Given the description of an element on the screen output the (x, y) to click on. 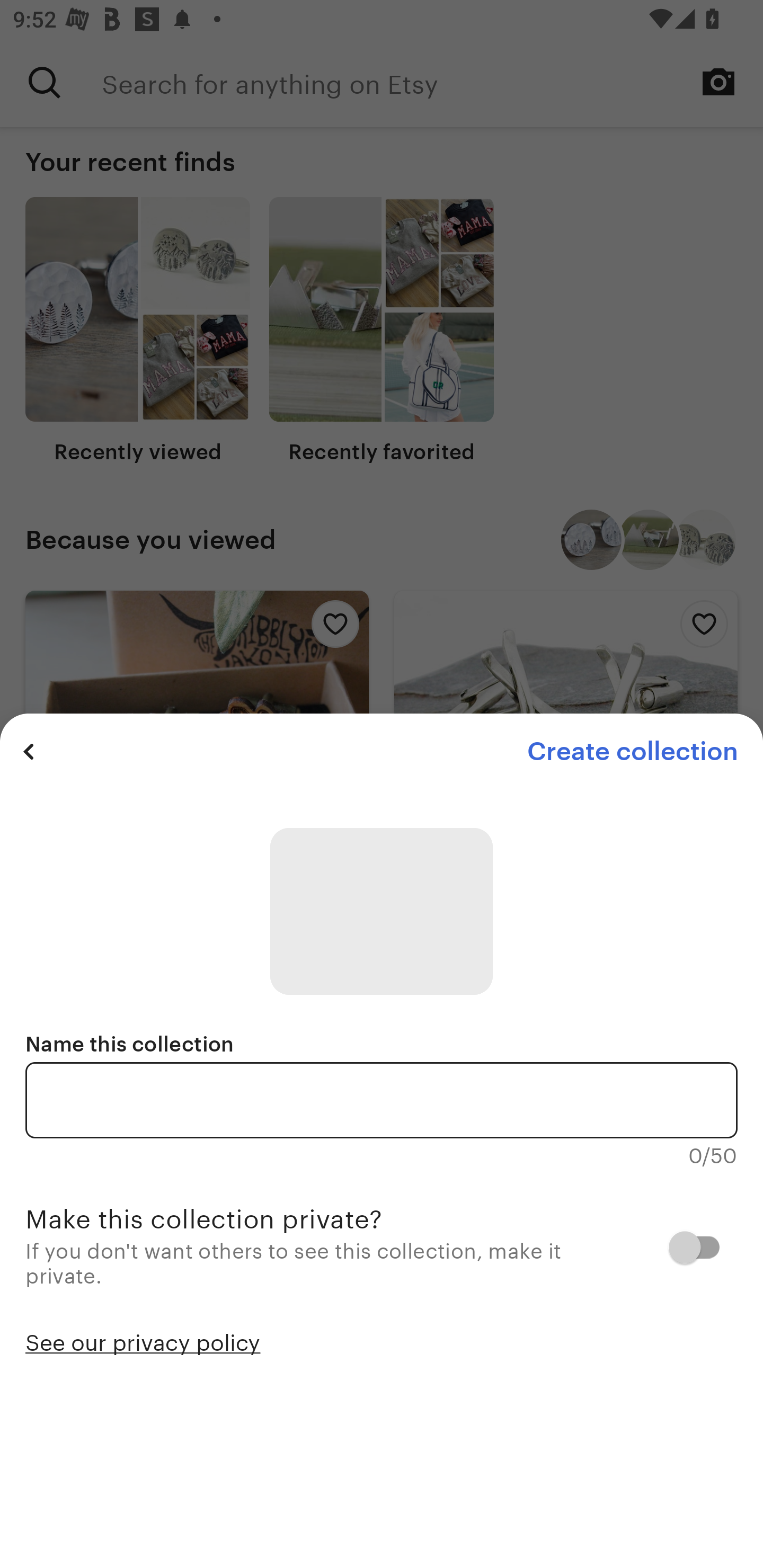
Previous (28, 751)
Create collection (632, 751)
See our privacy policy (142, 1341)
